Given the description of an element on the screen output the (x, y) to click on. 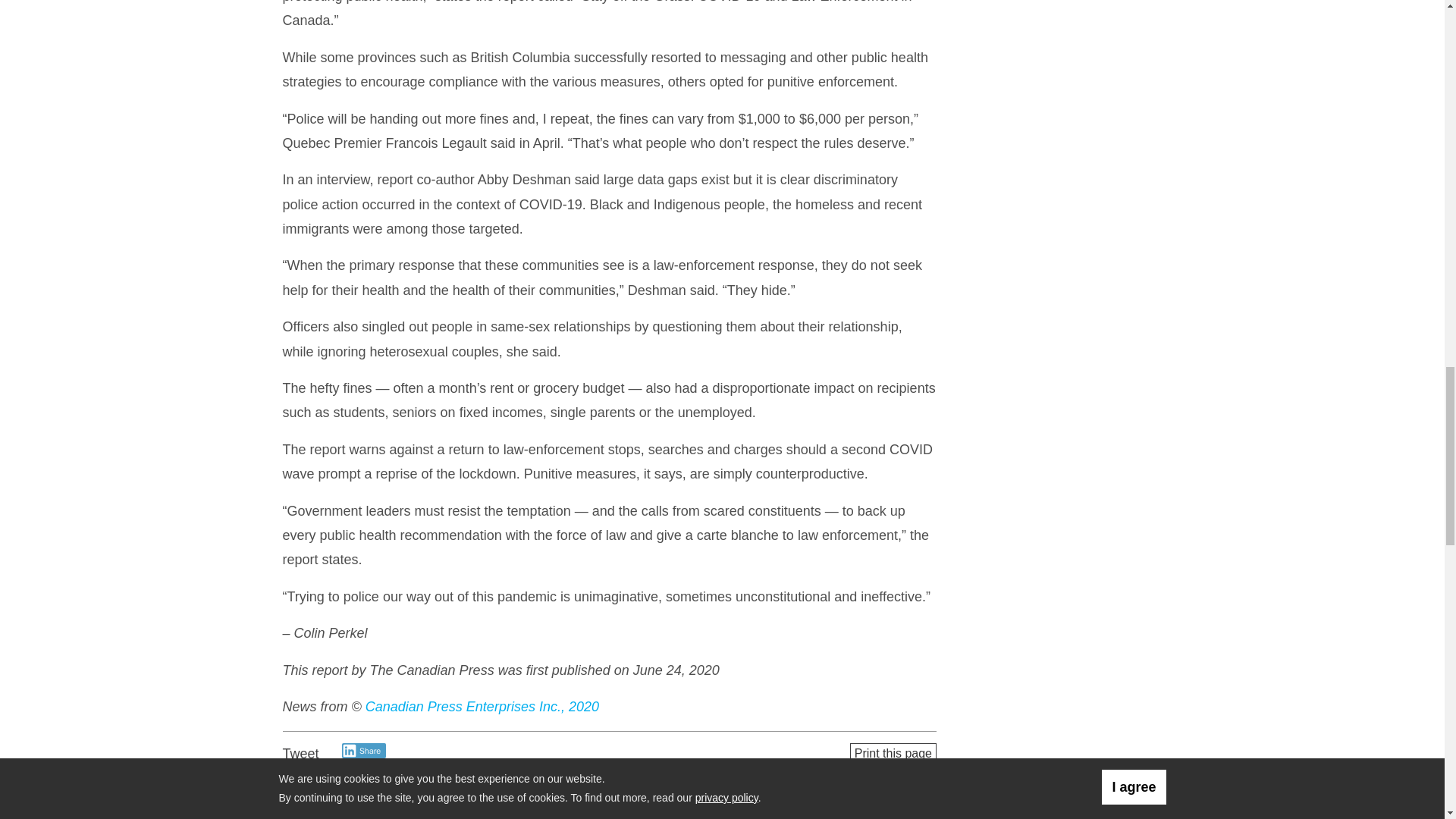
3rd party ad content (1060, 72)
